Given the description of an element on the screen output the (x, y) to click on. 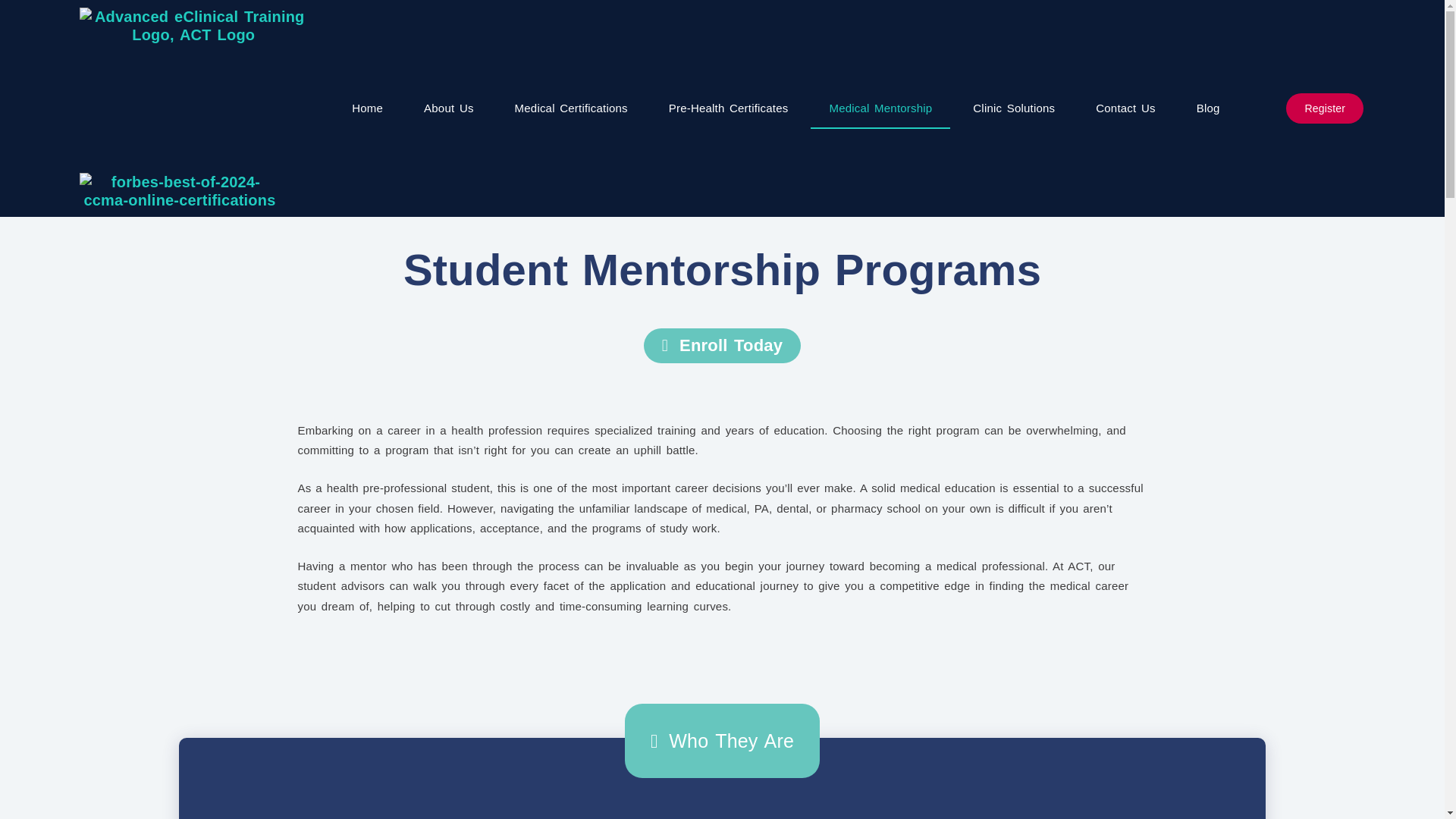
Medical Certifications (571, 107)
Contact Us (1125, 107)
About Us (449, 107)
forbes-best-of-2024-ccma-online-certifications (179, 190)
Blog (1208, 107)
Home (367, 107)
Pre-Health Certificates (728, 107)
Medical Mentorship (880, 107)
Clinic Solutions (1014, 107)
